Given the description of an element on the screen output the (x, y) to click on. 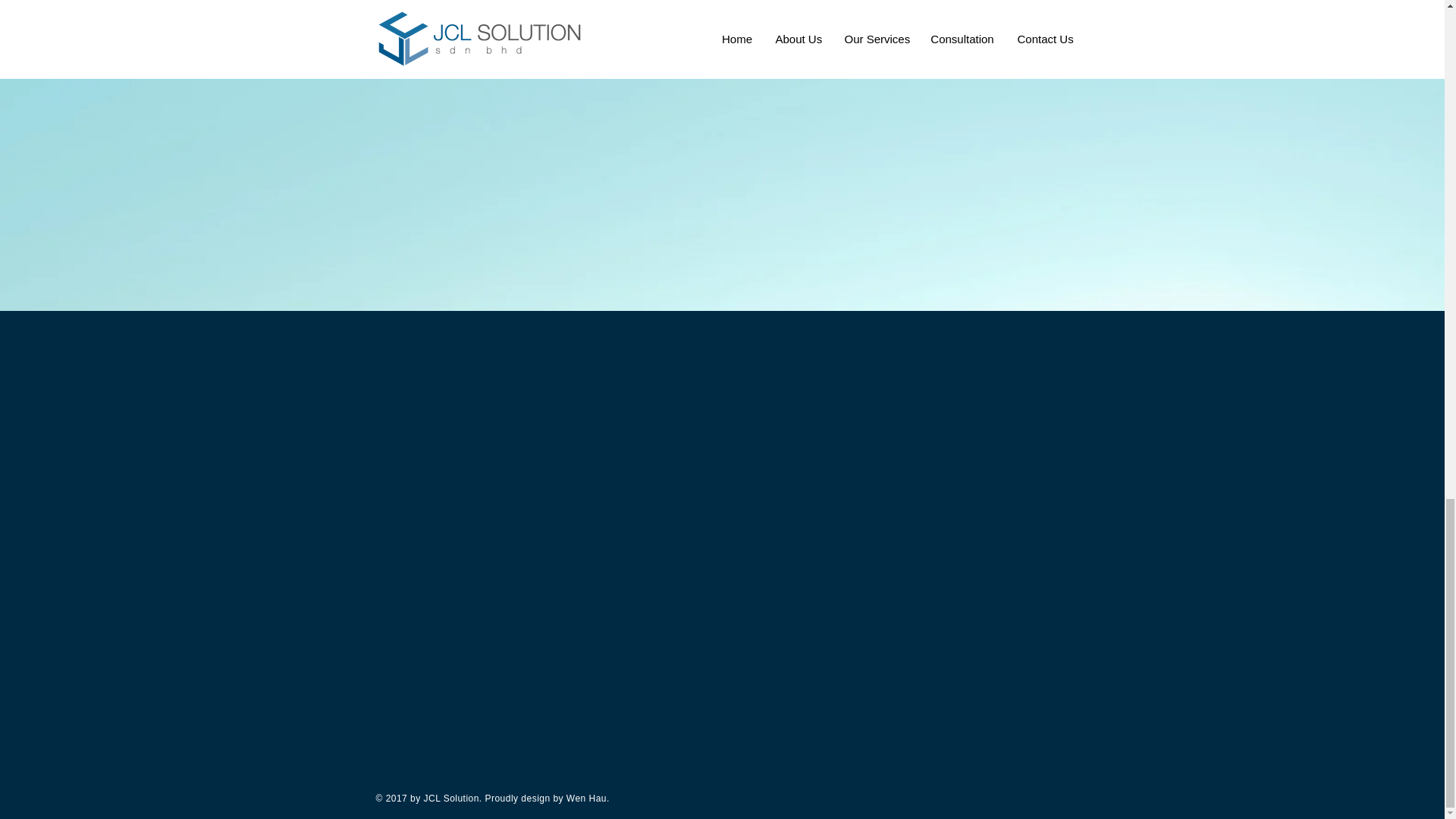
Wen Hau. (588, 798)
